Given the description of an element on the screen output the (x, y) to click on. 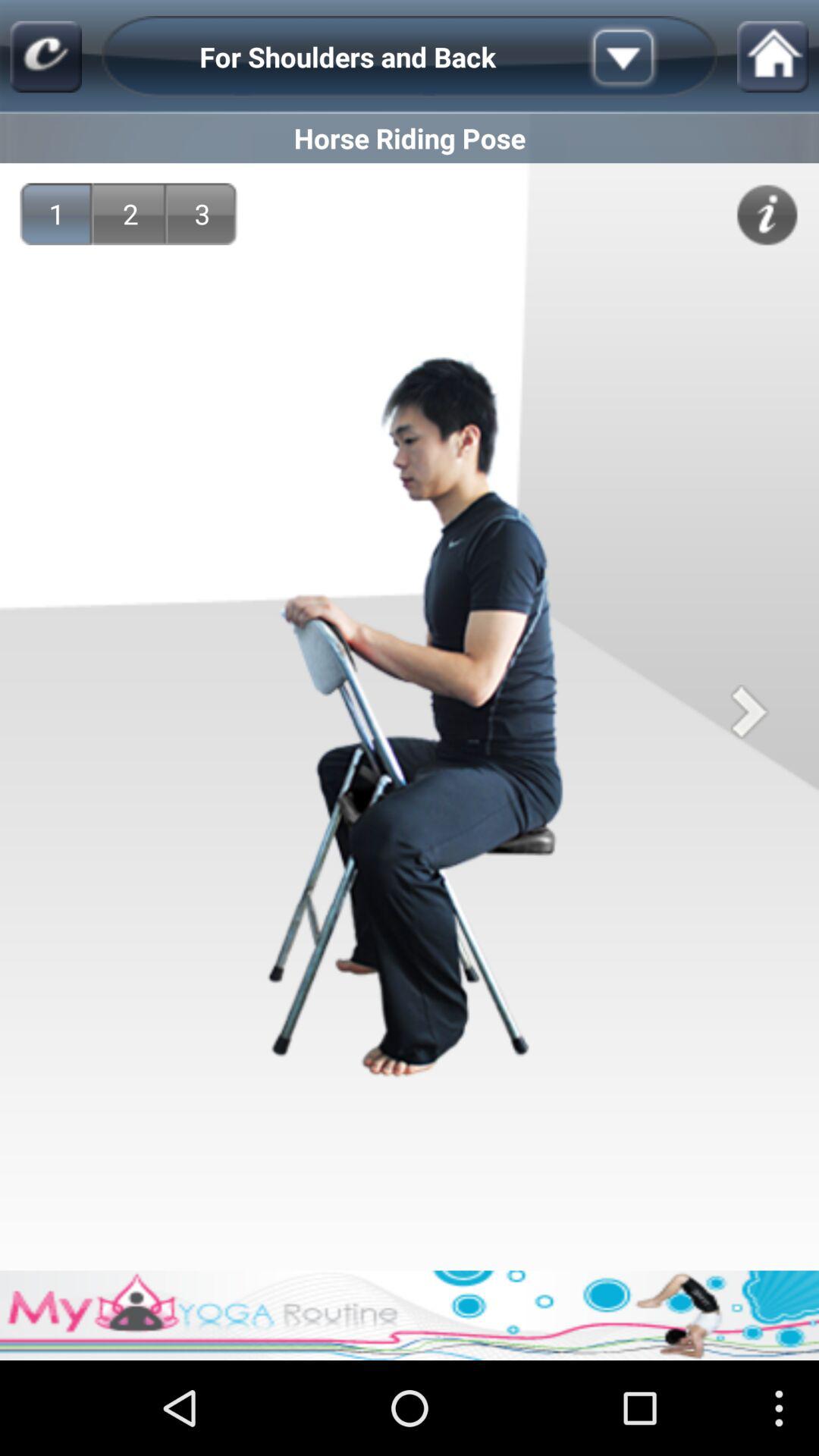
jump to 1 app (56, 214)
